Given the description of an element on the screen output the (x, y) to click on. 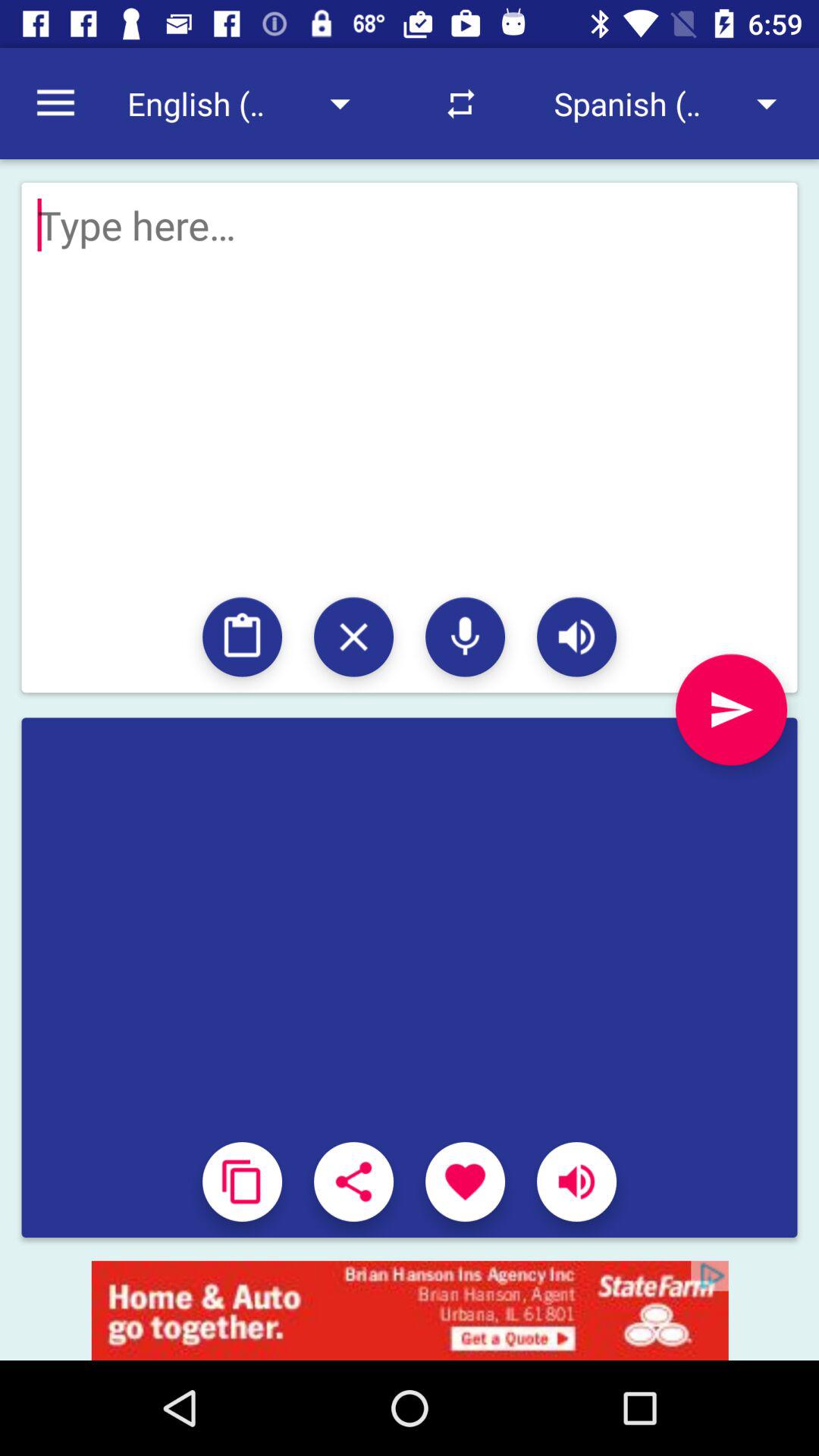
click the adjust volume option (576, 1181)
